Given the description of an element on the screen output the (x, y) to click on. 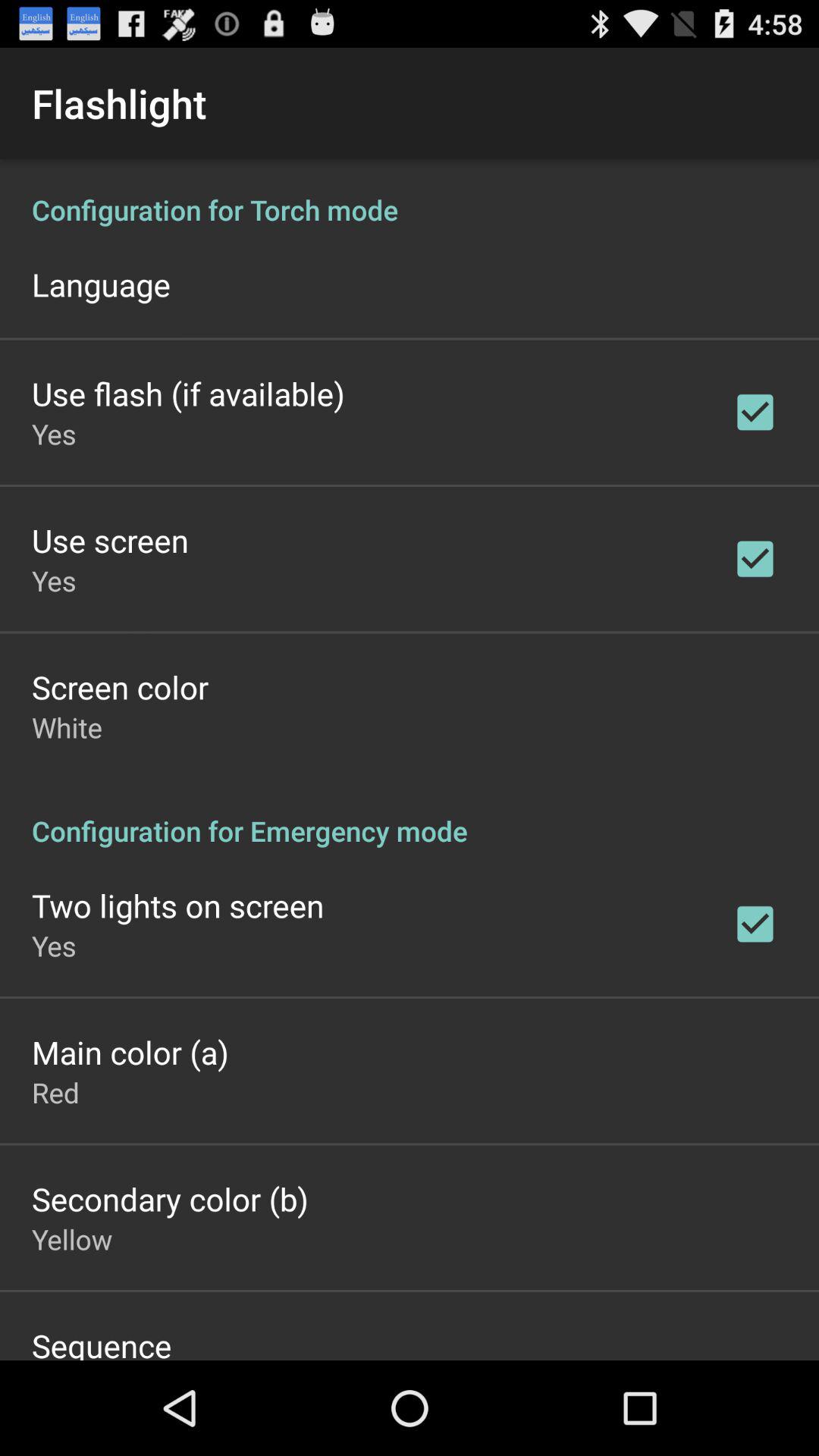
tap main color (a) (129, 1051)
